Given the description of an element on the screen output the (x, y) to click on. 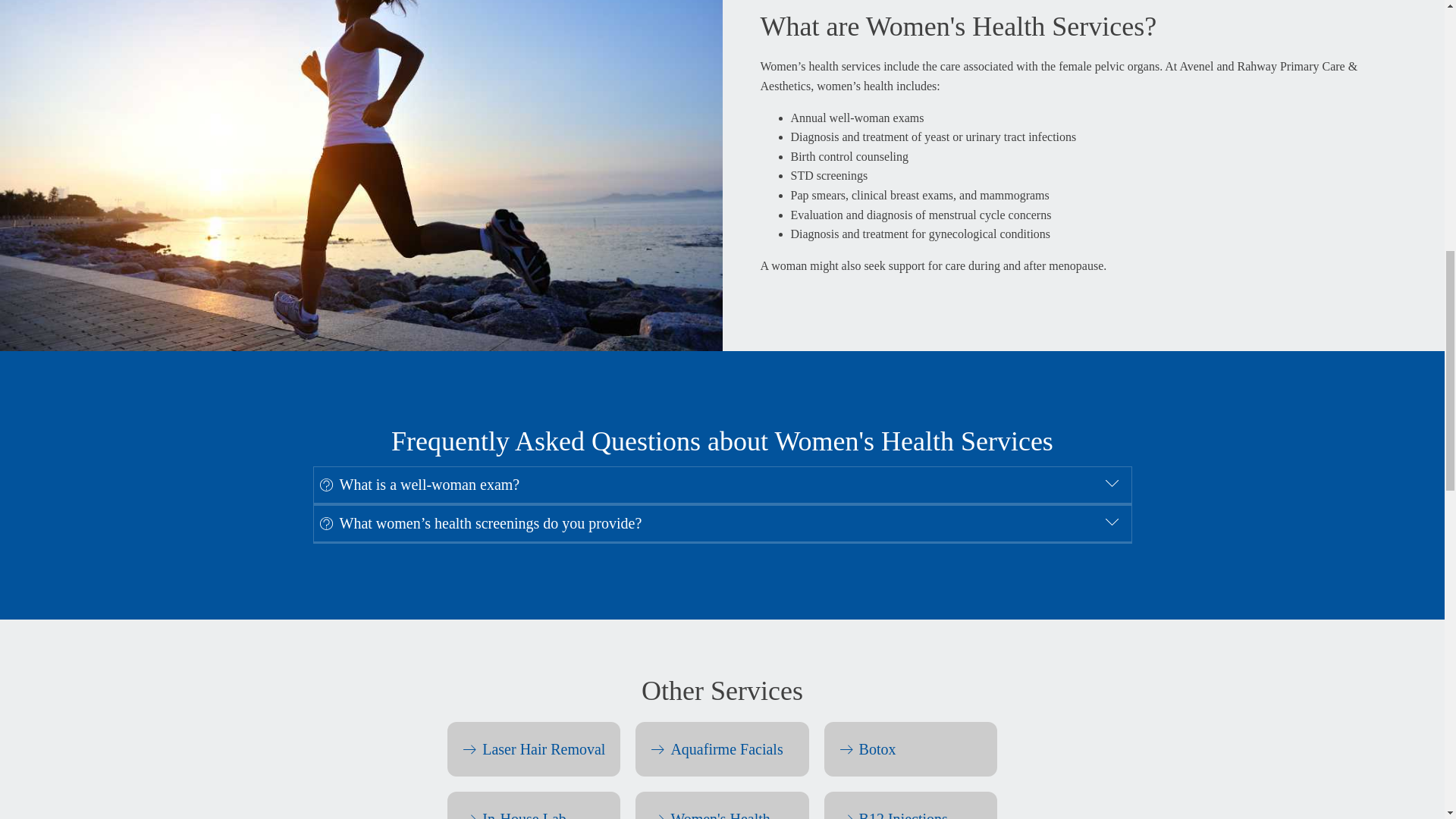
Laser Hair Removal (533, 748)
What is a well-woman exam? (722, 484)
